Given the description of an element on the screen output the (x, y) to click on. 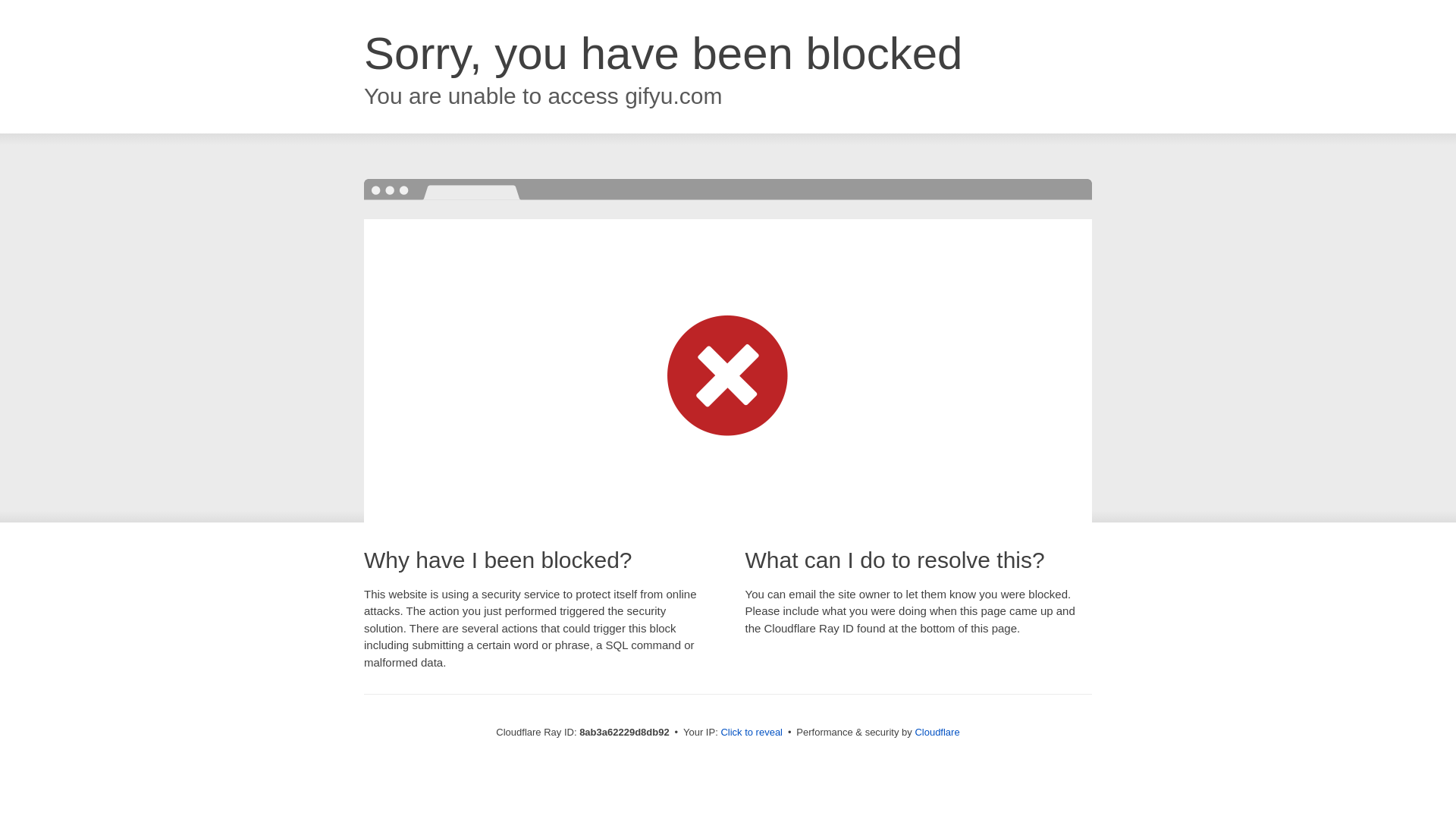
Click to reveal (751, 732)
Cloudflare (936, 731)
